Given the description of an element on the screen output the (x, y) to click on. 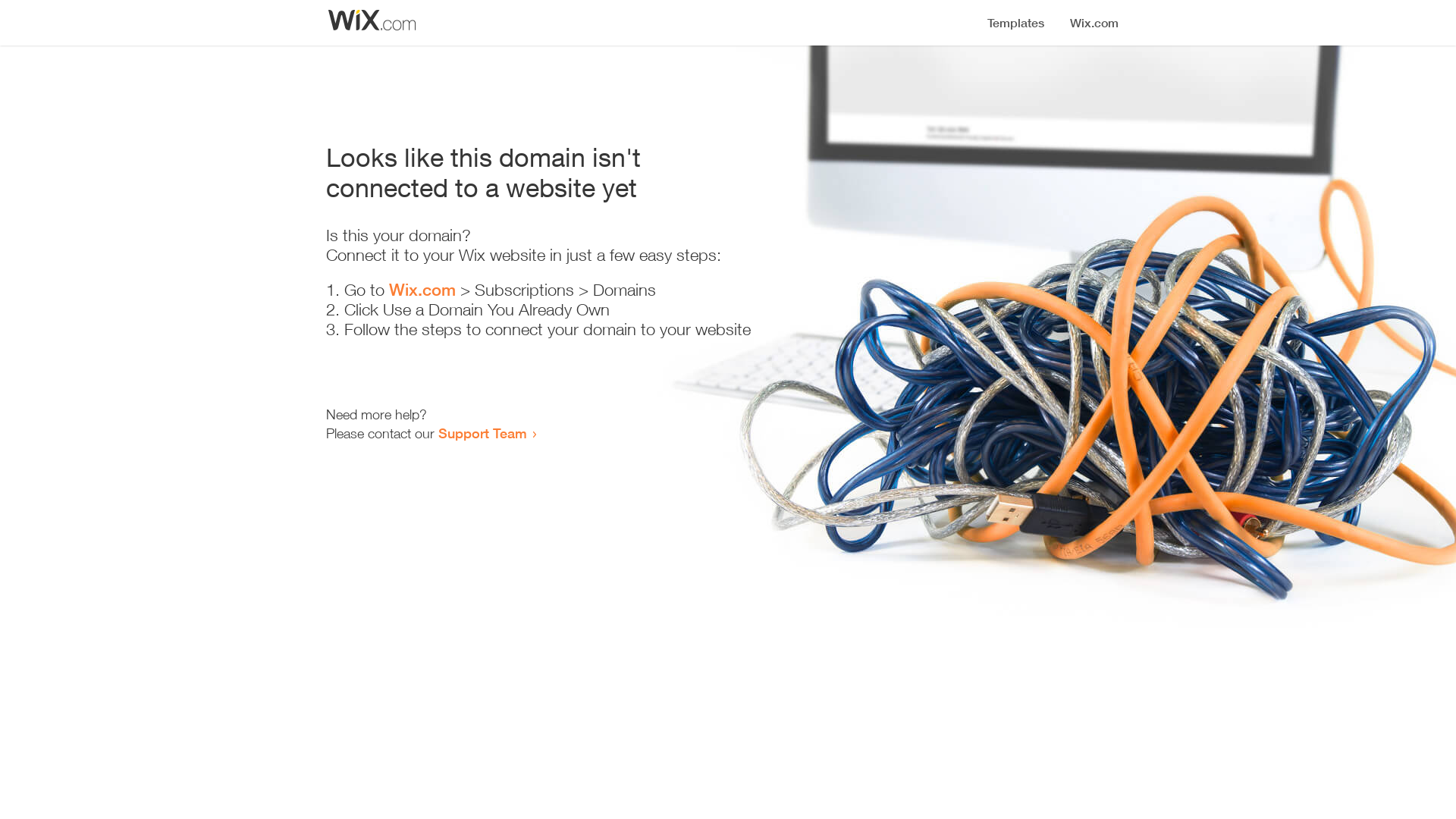
Wix.com Element type: text (422, 289)
Support Team Element type: text (482, 432)
